Given the description of an element on the screen output the (x, y) to click on. 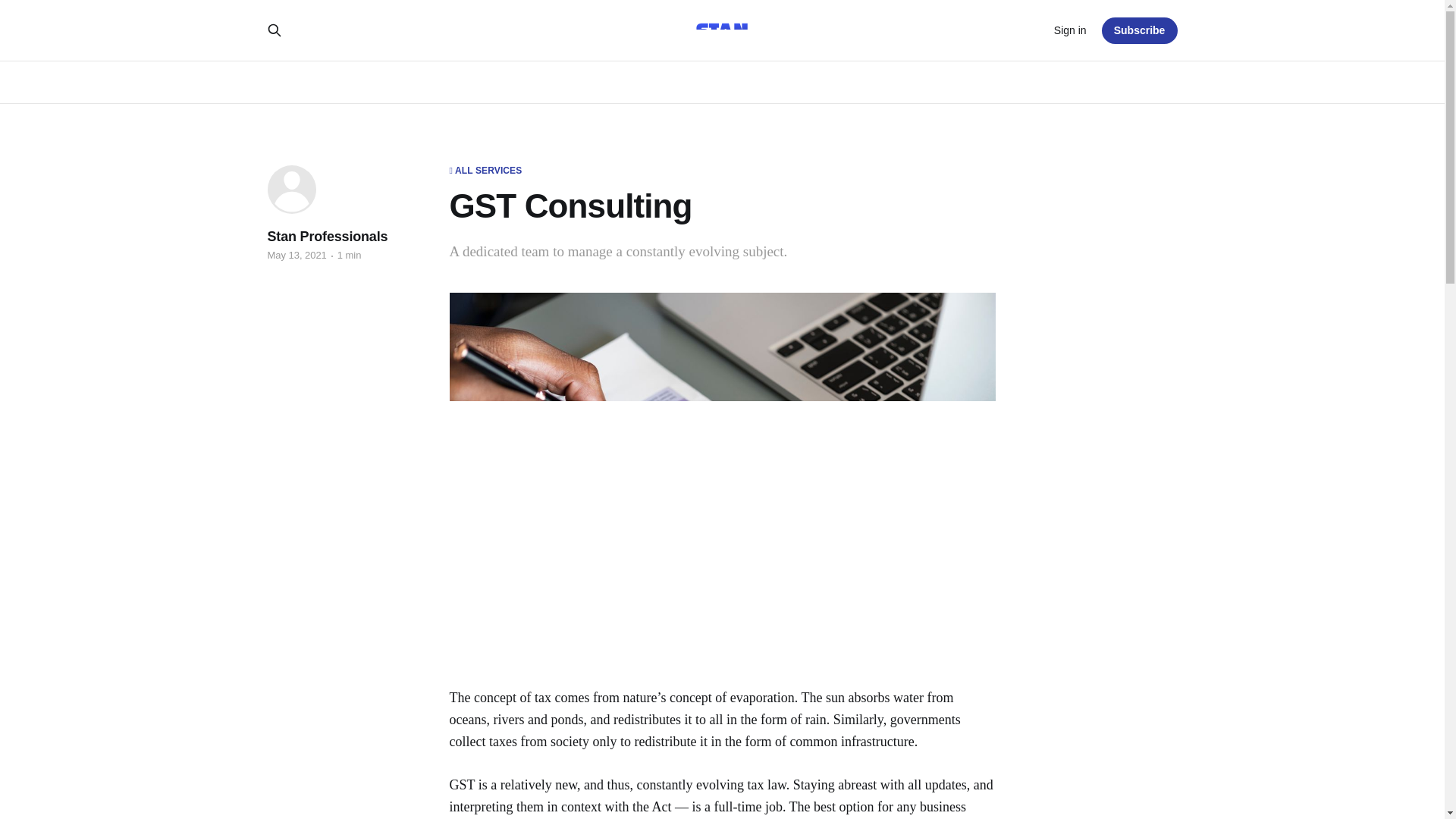
Sign in (1070, 30)
Subscribe (1139, 29)
Stan Professionals (326, 236)
